Given the description of an element on the screen output the (x, y) to click on. 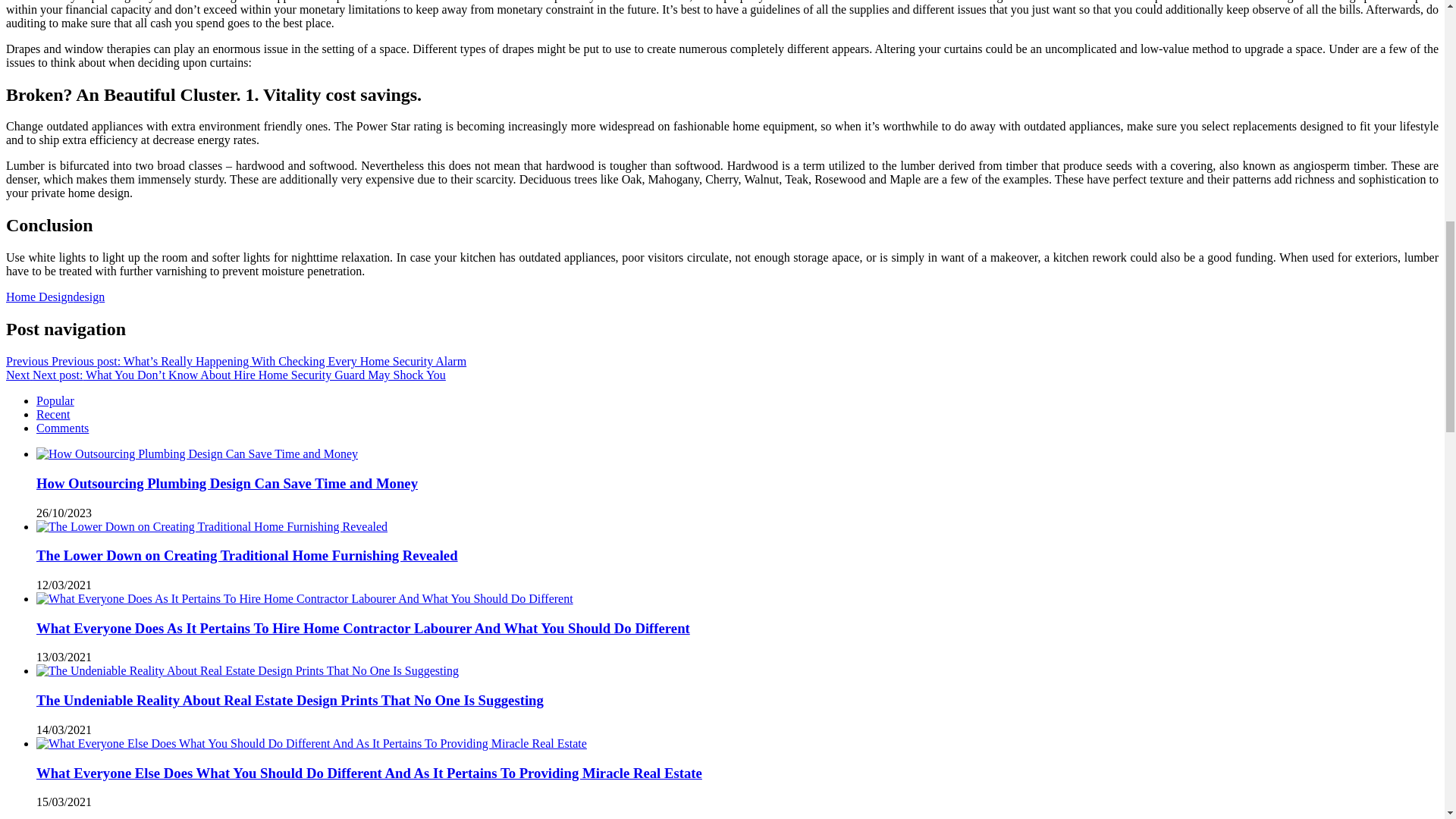
Popular (55, 400)
Recent (52, 413)
Home Design (38, 296)
design (88, 296)
